Given the description of an element on the screen output the (x, y) to click on. 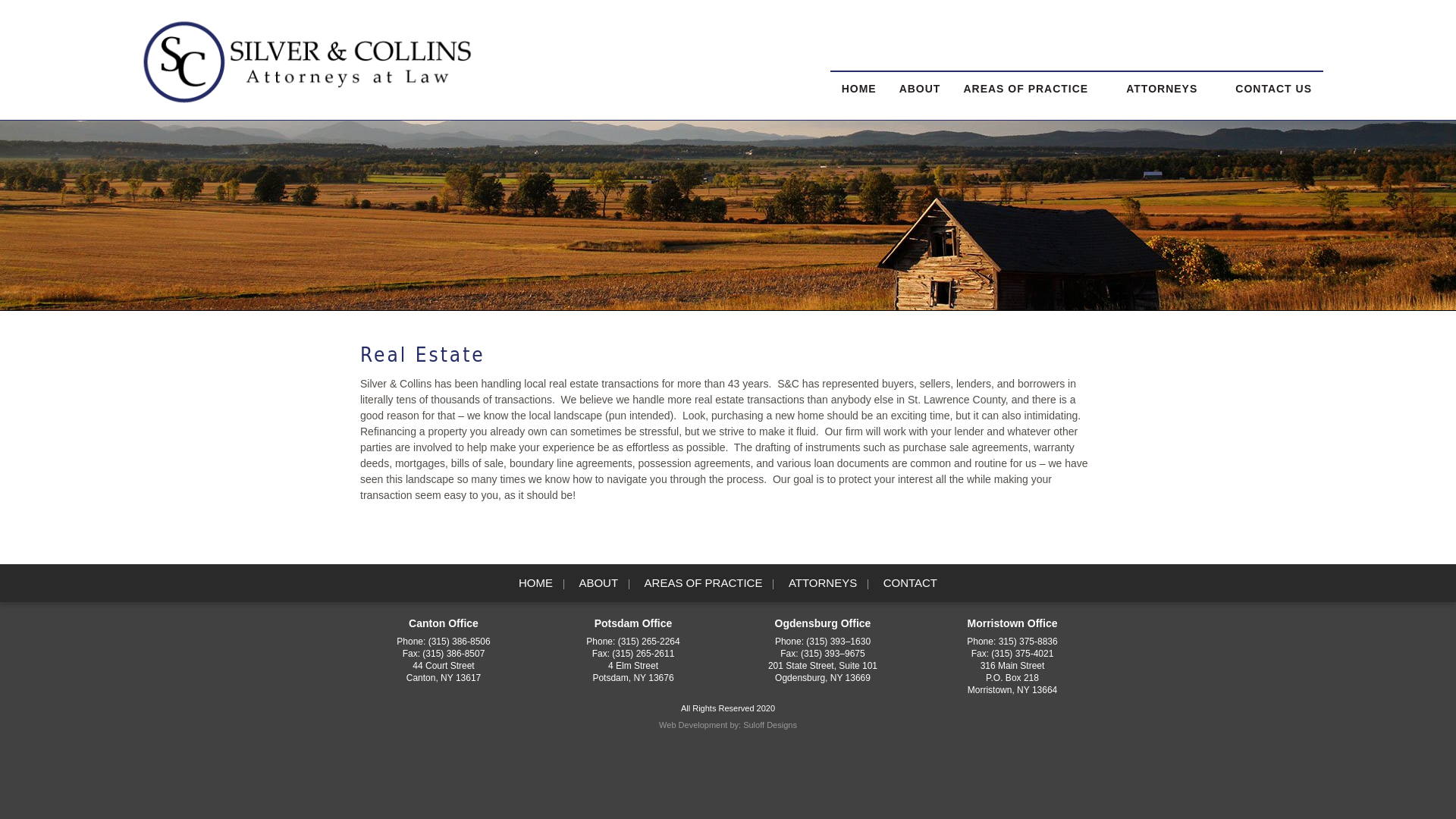
HOME (535, 582)
CONTACT (910, 582)
JOHN K. COLLINS (1153, 121)
EDUCATION LAW (959, 203)
REAL ESTATE (959, 312)
Ogdensburg Office (822, 632)
ABOUT (597, 582)
AREAS OF PRACTICE (1033, 89)
Morristown Office (1012, 632)
HOME (858, 89)
